Given the description of an element on the screen output the (x, y) to click on. 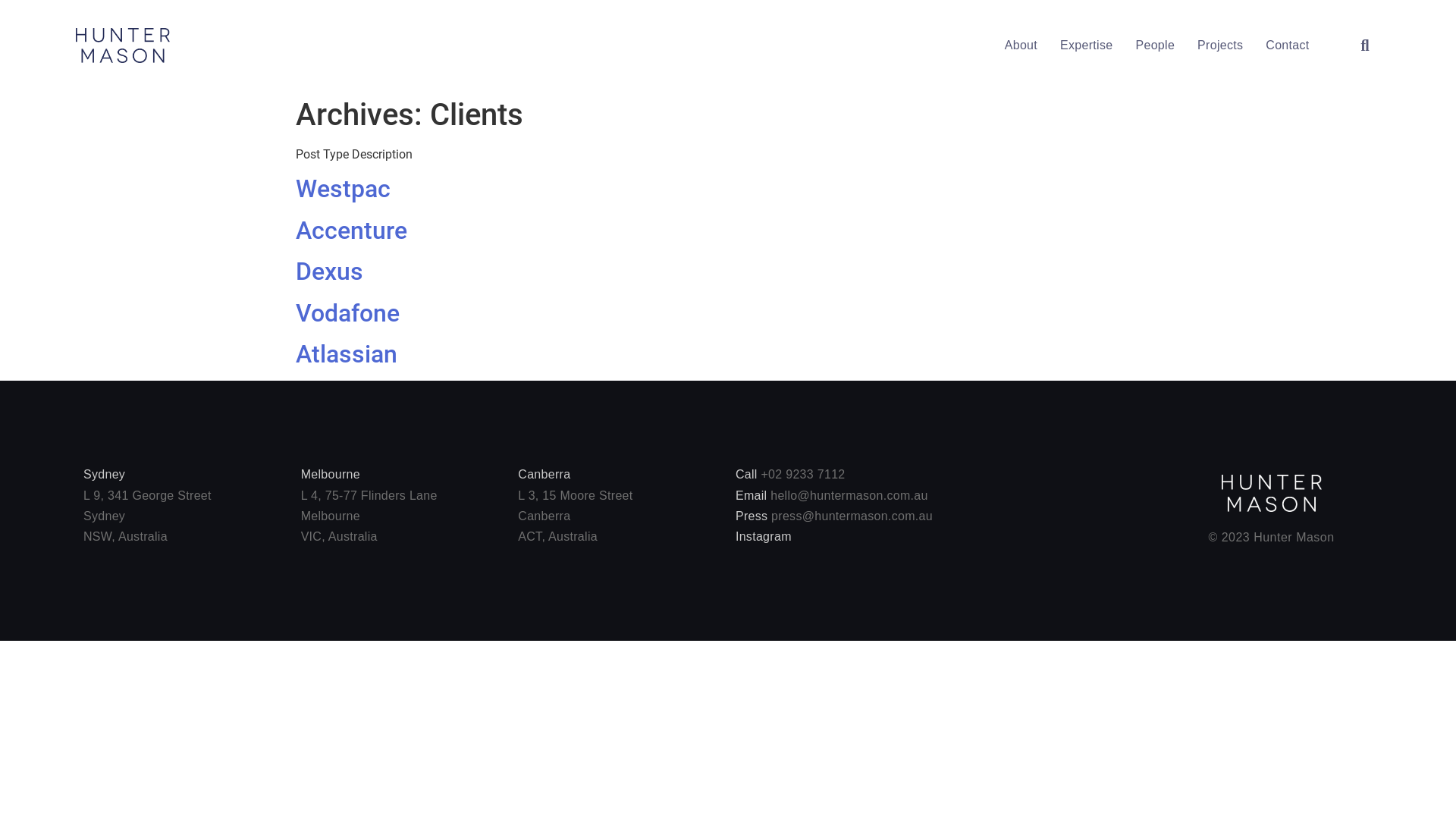
Contact Element type: text (1287, 44)
Westpac Element type: text (342, 188)
Accenture Element type: text (351, 230)
Vodafone Element type: text (347, 312)
Projects Element type: text (1220, 44)
Dexus Element type: text (329, 271)
Instagram Element type: text (763, 536)
About Element type: text (1020, 44)
Atlassian Element type: text (346, 353)
Expertise Element type: text (1085, 44)
People Element type: text (1154, 44)
